Given the description of an element on the screen output the (x, y) to click on. 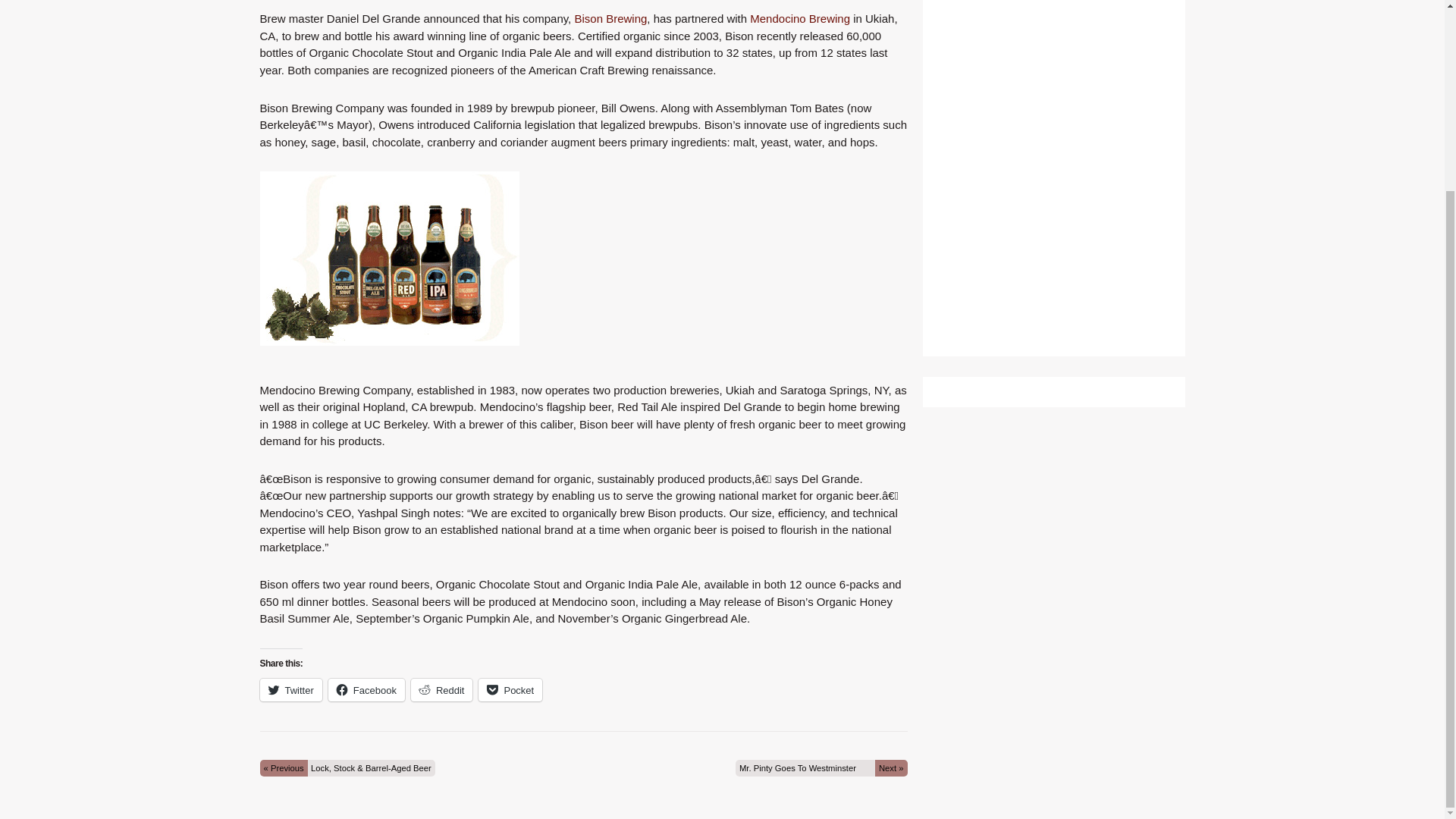
Click to share on Facebook (366, 689)
Reddit (441, 689)
Click to share on Twitter (290, 689)
Click to share on Pocket (510, 689)
Click to share on Reddit (441, 689)
Pocket (510, 689)
Twitter (290, 689)
Bison Brewing (609, 18)
Facebook (366, 689)
Mendocino Brewing (799, 18)
